Given the description of an element on the screen output the (x, y) to click on. 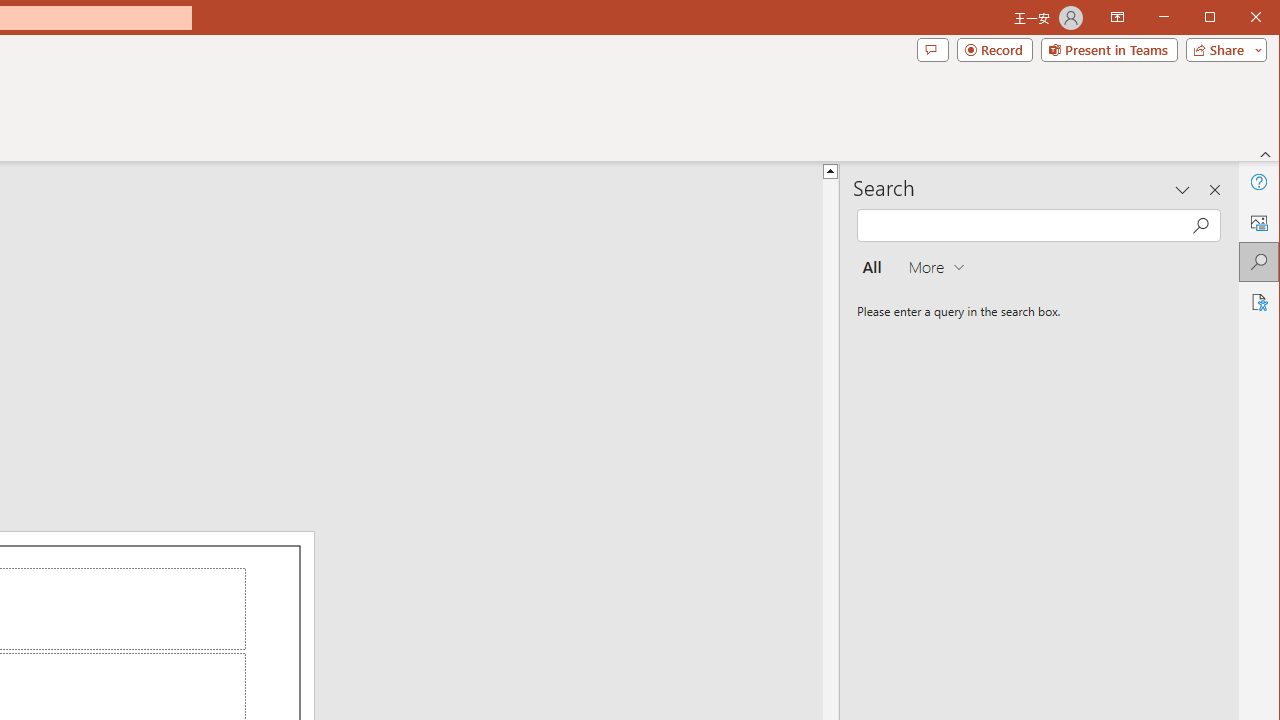
Alt Text (1258, 221)
Maximize (1238, 18)
